Given the description of an element on the screen output the (x, y) to click on. 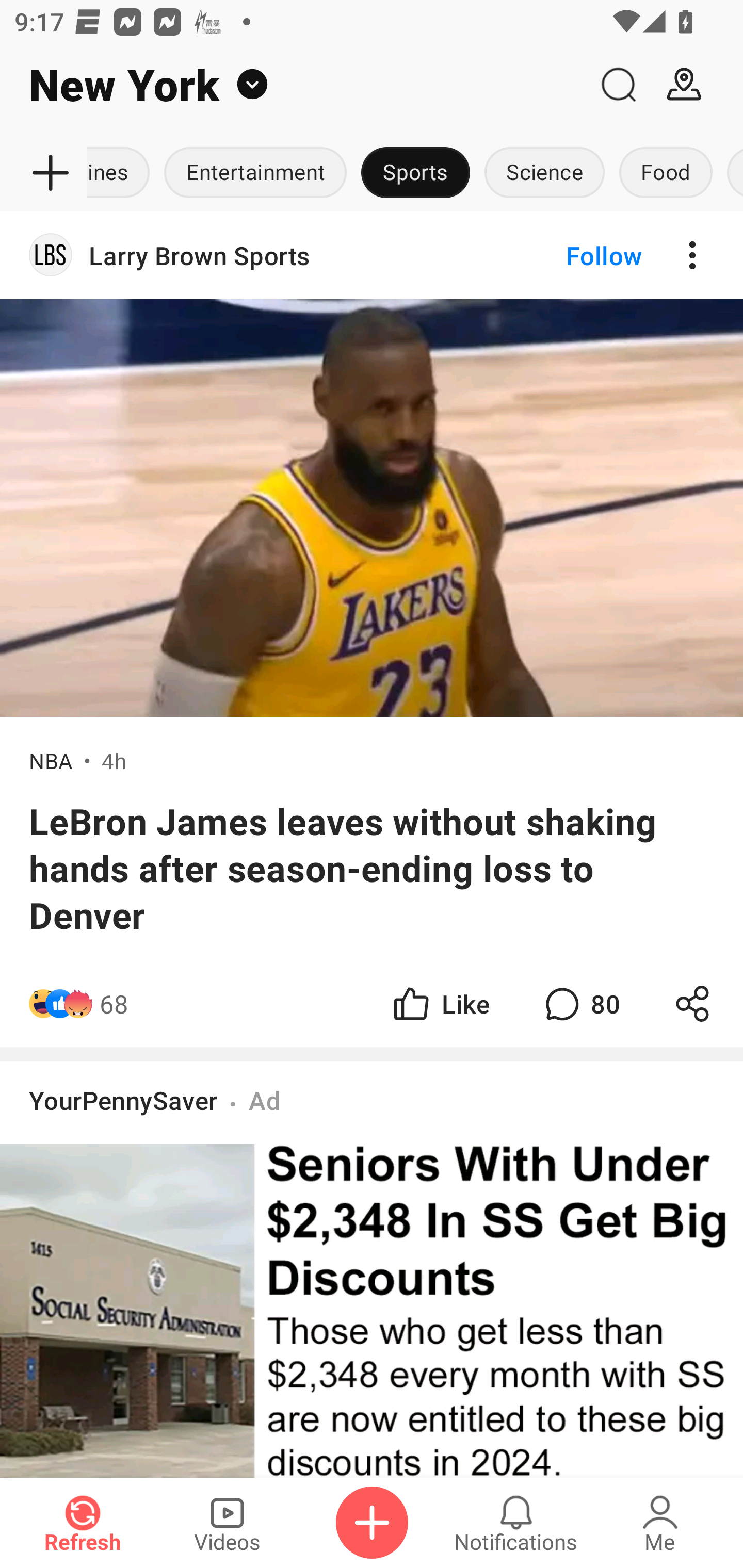
New York (292, 84)
Entertainment (254, 172)
Sports (415, 172)
Science (544, 172)
Food (665, 172)
Larry Brown Sports Follow (371, 255)
Follow (569, 255)
68 (113, 1003)
Like (439, 1003)
80 (579, 1003)
YourPennySaver (122, 1099)
Videos (227, 1522)
Notifications (516, 1522)
Me (659, 1522)
